Given the description of an element on the screen output the (x, y) to click on. 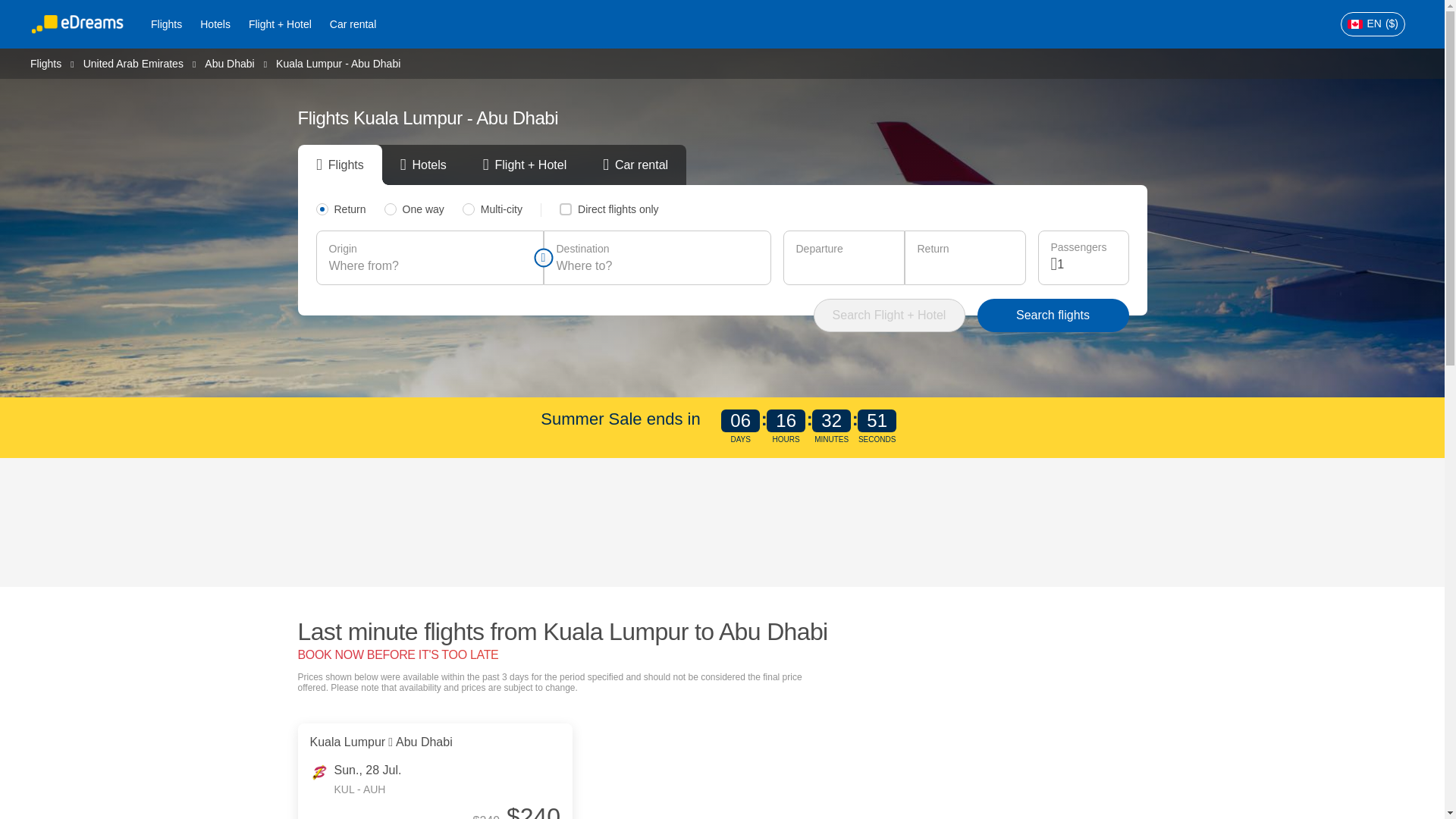
Car rental (352, 24)
1 (1086, 263)
United Arab Emirates (132, 62)
Flights (165, 24)
Abu Dhabi (229, 62)
Flights (45, 62)
3rd party ad content (722, 522)
Hotels (215, 24)
Kuala Lumpur - Abu Dhabi (338, 63)
Search flights (1052, 315)
